Given the description of an element on the screen output the (x, y) to click on. 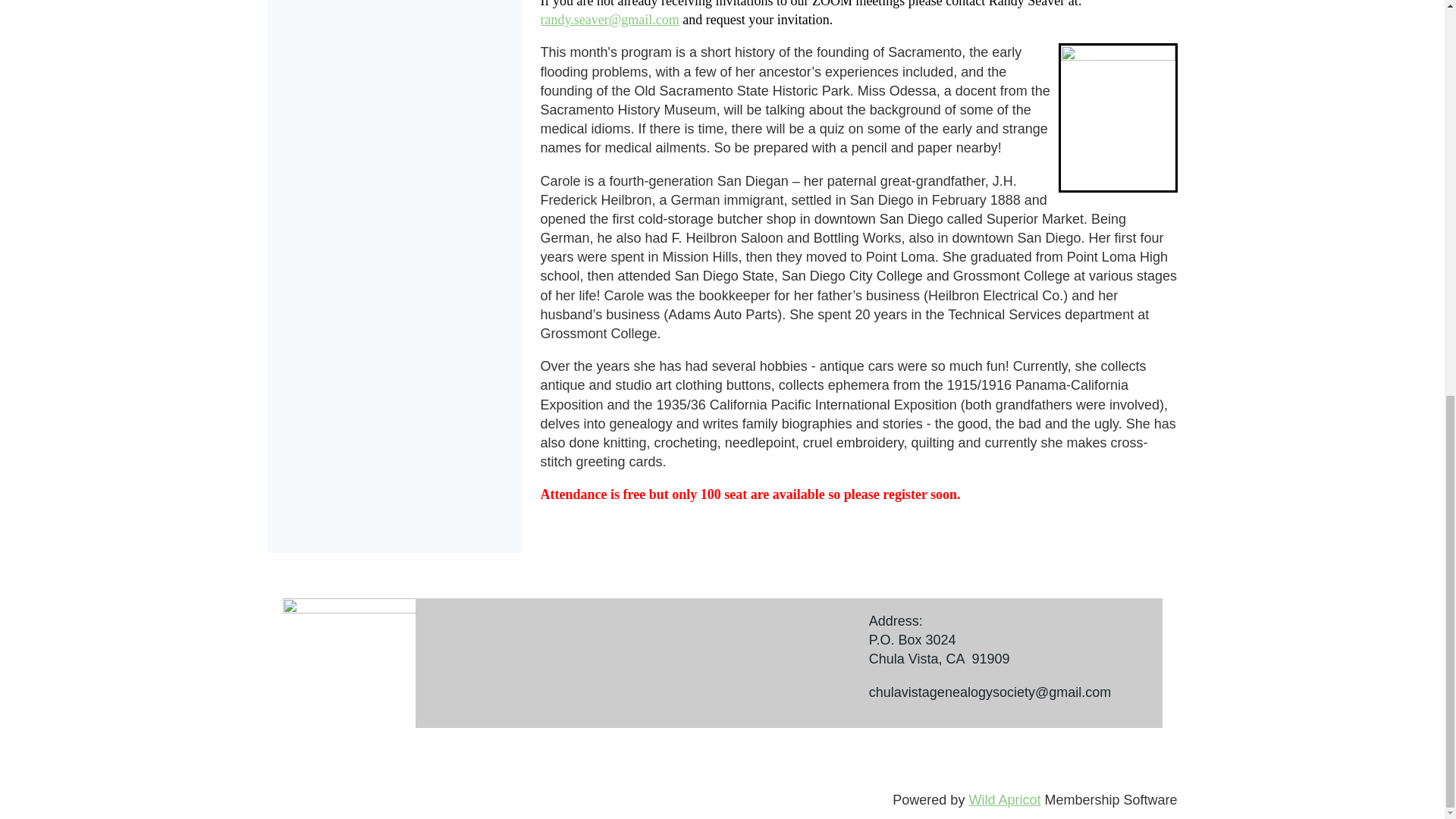
Wild Apricot (1004, 799)
